Given the description of an element on the screen output the (x, y) to click on. 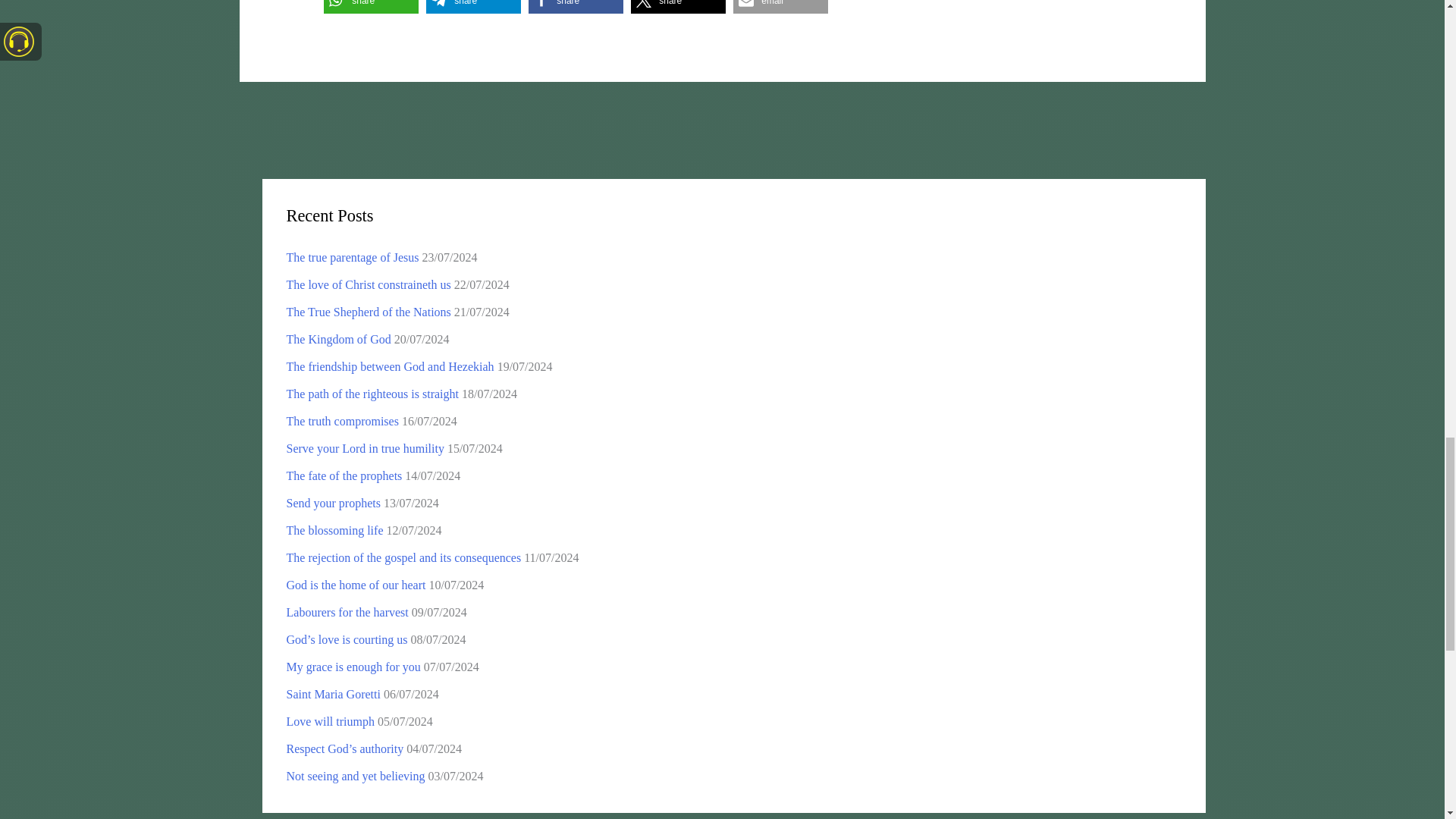
The True Shepherd of the Nations (368, 311)
Send by email (780, 6)
share  (371, 6)
share  (575, 6)
email  (780, 6)
Serve your Lord in true humility (365, 448)
Share on X (677, 6)
share  (677, 6)
The Kingdom of God (338, 338)
Share on Whatsapp (371, 6)
The path of the righteous is straight (373, 393)
The love of Christ constraineth us (368, 284)
The true parentage of Jesus (352, 256)
The friendship between God and Hezekiah (390, 366)
share  (473, 6)
